Given the description of an element on the screen output the (x, y) to click on. 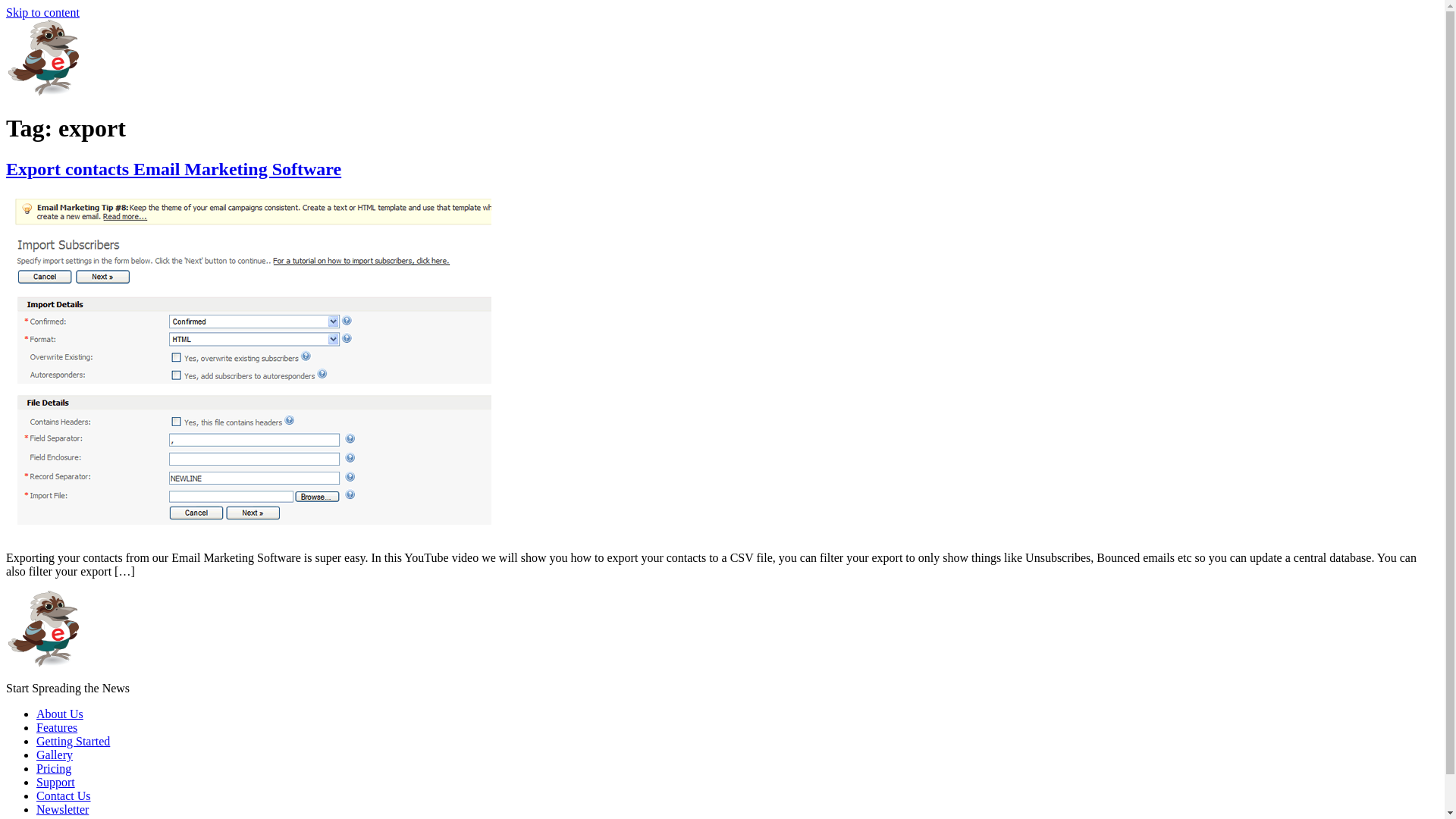
Contact Us Element type: text (63, 795)
About Us Element type: text (59, 713)
Export contacts Email Marketing Software Element type: text (173, 168)
Features Element type: text (56, 727)
Pricing Element type: text (53, 768)
Gallery Element type: text (54, 754)
Getting Started Element type: text (72, 740)
Newsletter Element type: text (62, 809)
Skip to content Element type: text (42, 12)
Support Element type: text (55, 781)
